Given the description of an element on the screen output the (x, y) to click on. 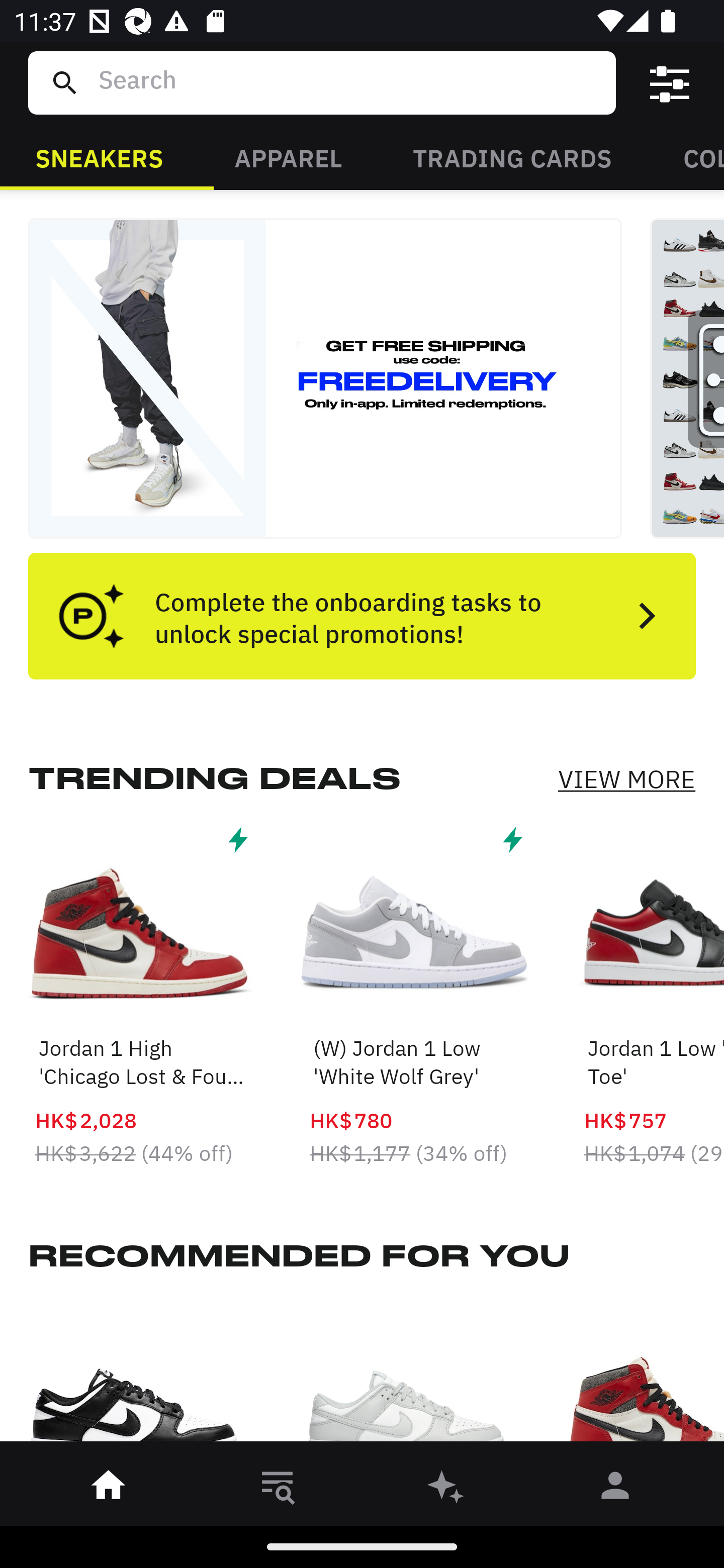
Search (349, 82)
 (669, 82)
SNEAKERS (99, 156)
APPAREL (287, 156)
TRADING CARDS (512, 156)
VIEW MORE (626, 779)
󰋜 (108, 1488)
󱎸 (277, 1488)
󰫢 (446, 1488)
󰀄 (615, 1488)
